Given the description of an element on the screen output the (x, y) to click on. 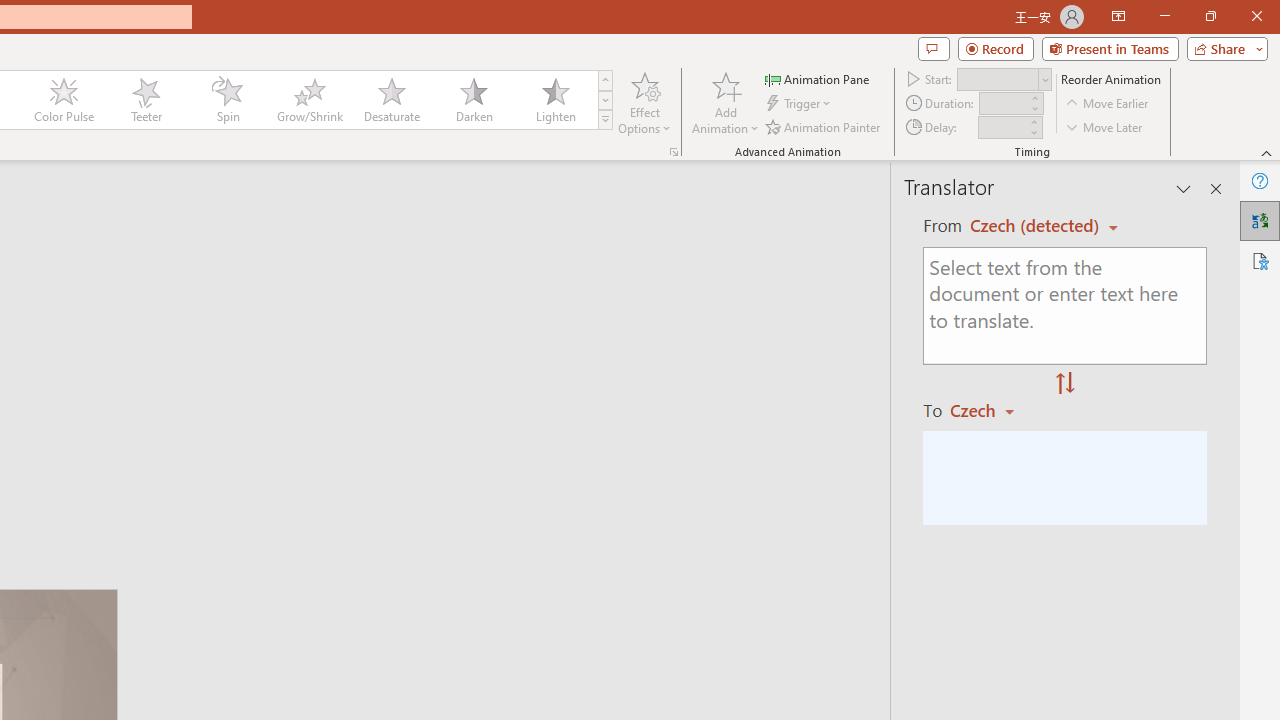
More (1033, 121)
Effect Options (644, 102)
Less (1033, 132)
Task Pane Options (1183, 188)
Animation Painter (824, 126)
Czech (detected) (1037, 225)
More Options... (673, 151)
Move Earlier (1107, 103)
Teeter (145, 100)
Spin (227, 100)
Open (1044, 79)
Translator (1260, 220)
